Given the description of an element on the screen output the (x, y) to click on. 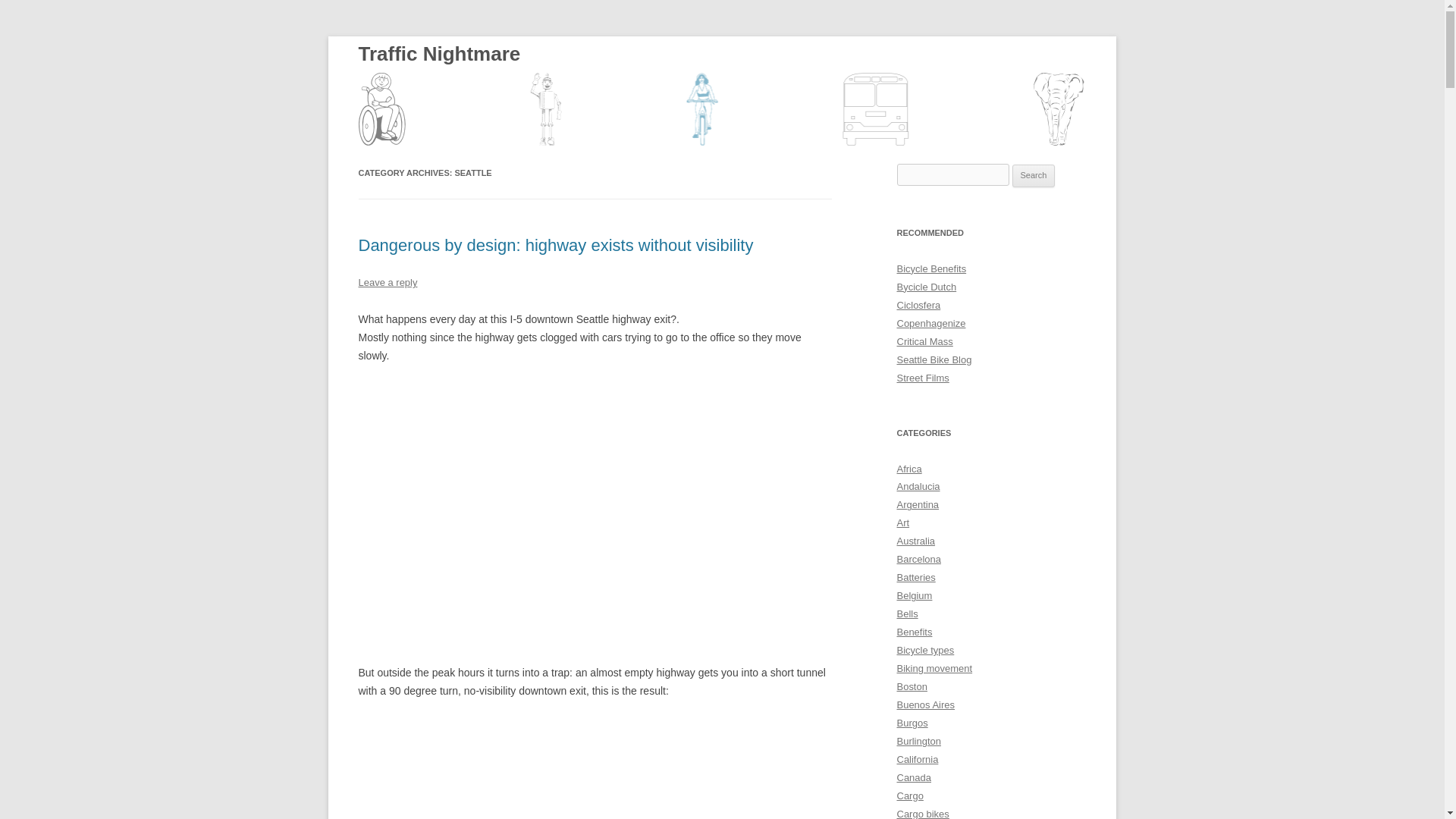
Search (1033, 175)
Dangerous by design: highway exists without visibility (555, 244)
YouTube video player (595, 768)
Traffic Nightmare (438, 90)
Leave a reply (387, 282)
YouTube video player (595, 502)
